Given the description of an element on the screen output the (x, y) to click on. 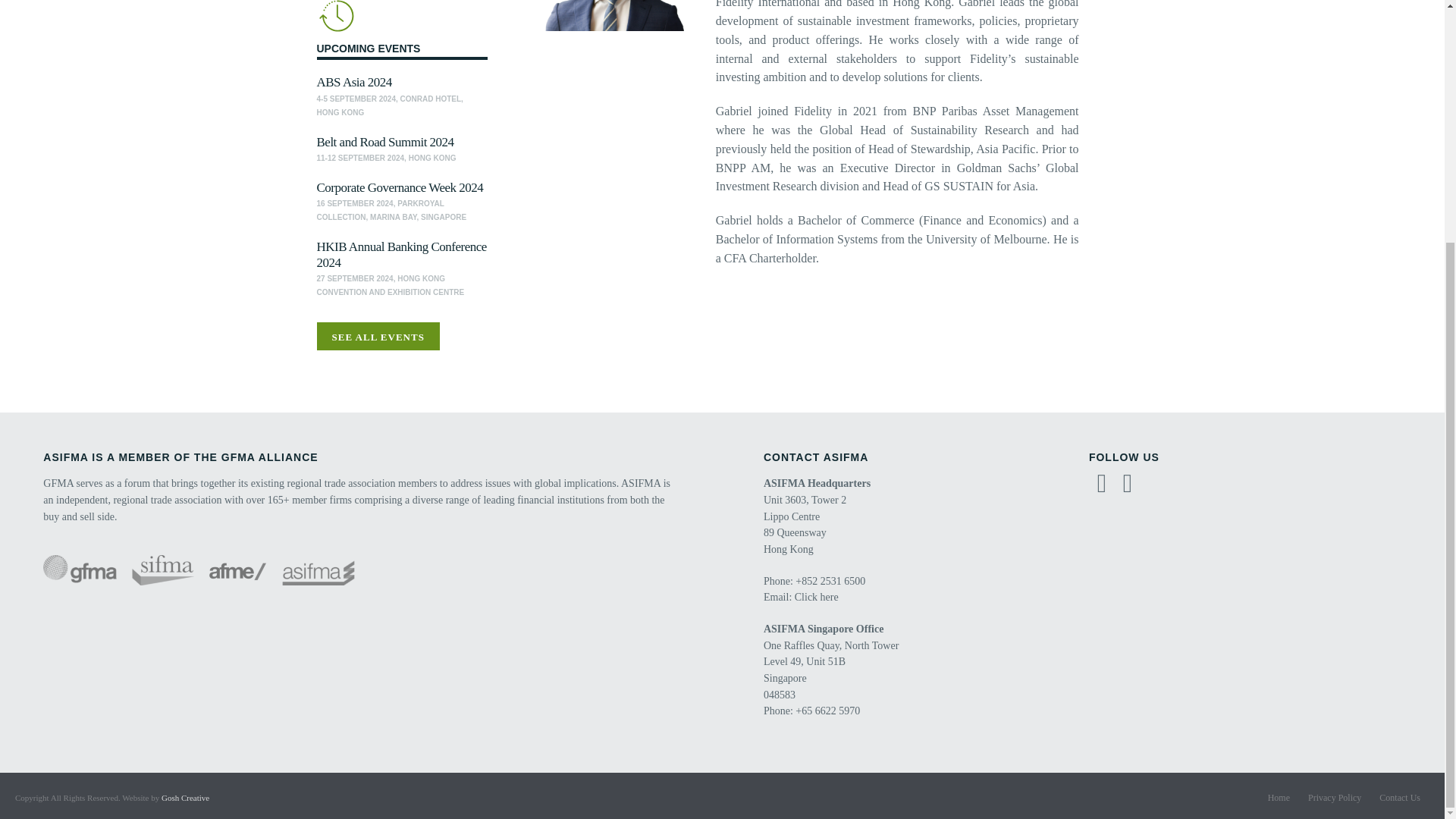
Belt and Road Summit 2024 (385, 142)
Corporate Governance Week 2024 (400, 187)
SEE ALL EVENTS (378, 336)
Contact Us (1399, 797)
Privacy Policy (1334, 797)
Click here (816, 596)
Home (1279, 797)
HKIB Annual Banking Conference 2024 (401, 254)
Gosh Creative (185, 797)
ABS Asia 2024 (354, 82)
